Given the description of an element on the screen output the (x, y) to click on. 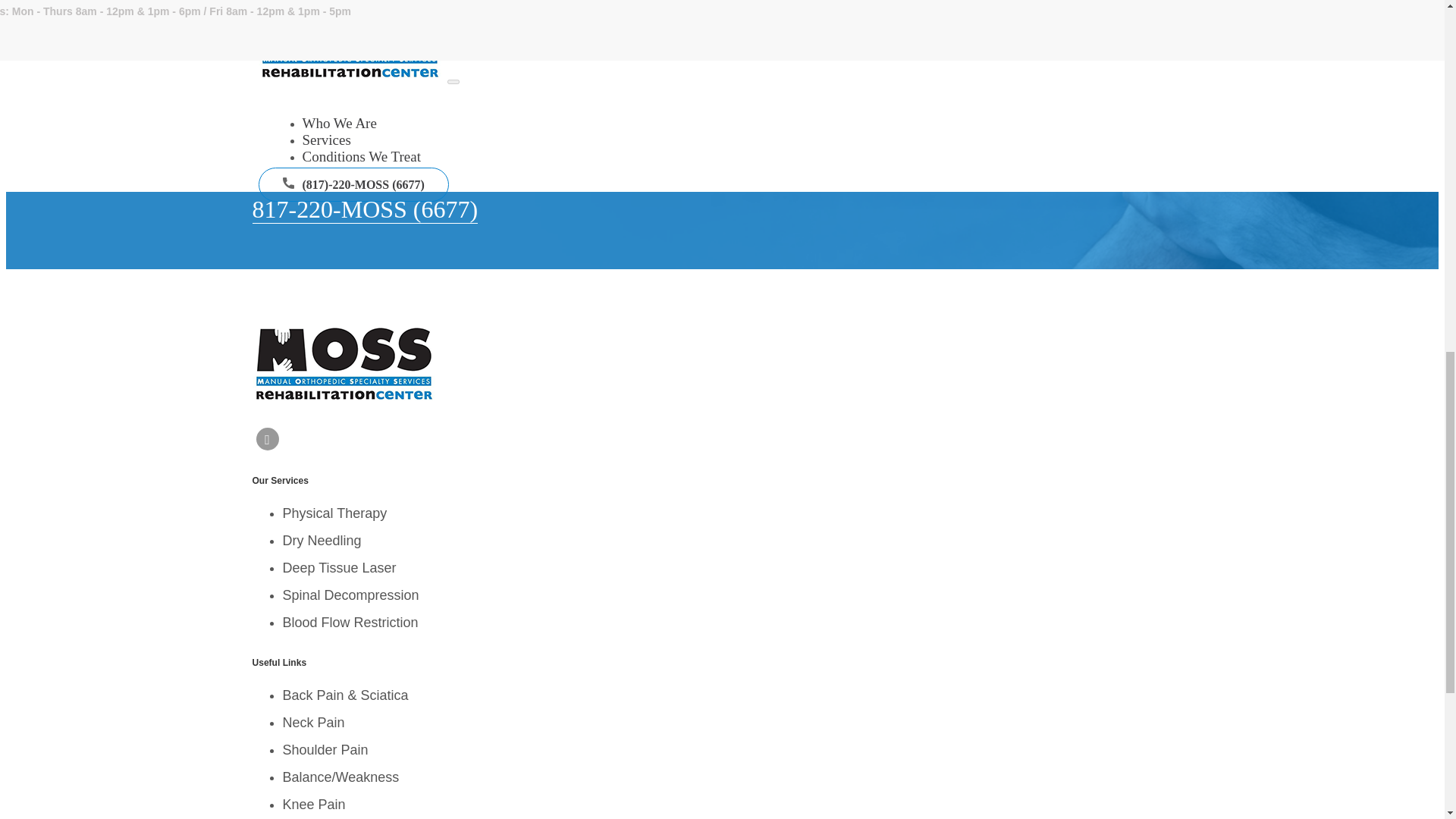
Spinal Decompression (350, 595)
Blood Flow Restriction (349, 622)
Neck Pain (312, 722)
Deep Tissue Laser (339, 567)
Physical Therapy (334, 513)
Shoulder Pain (325, 749)
Knee Pain (313, 804)
Dry Needling (321, 540)
